Given the description of an element on the screen output the (x, y) to click on. 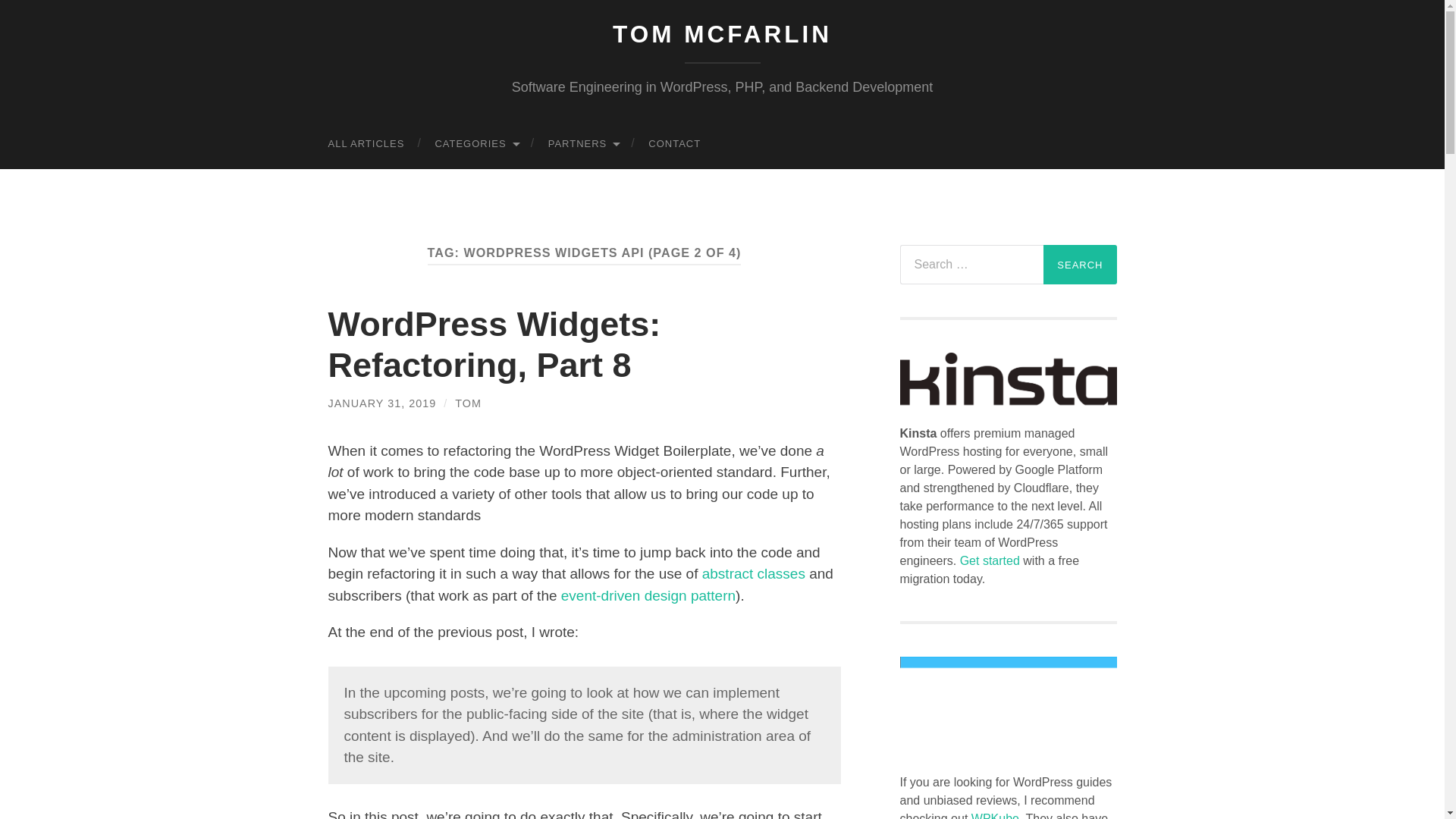
JANUARY 31, 2019 (381, 403)
Posts by Tom (467, 403)
event-driven design pattern (647, 595)
Search (1079, 264)
WordPress Widgets: Refactoring, Part 8 (494, 344)
CATEGORIES (475, 142)
Search (1079, 264)
ALL ARTICLES (366, 142)
TOM (467, 403)
CONTACT (674, 142)
